Given the description of an element on the screen output the (x, y) to click on. 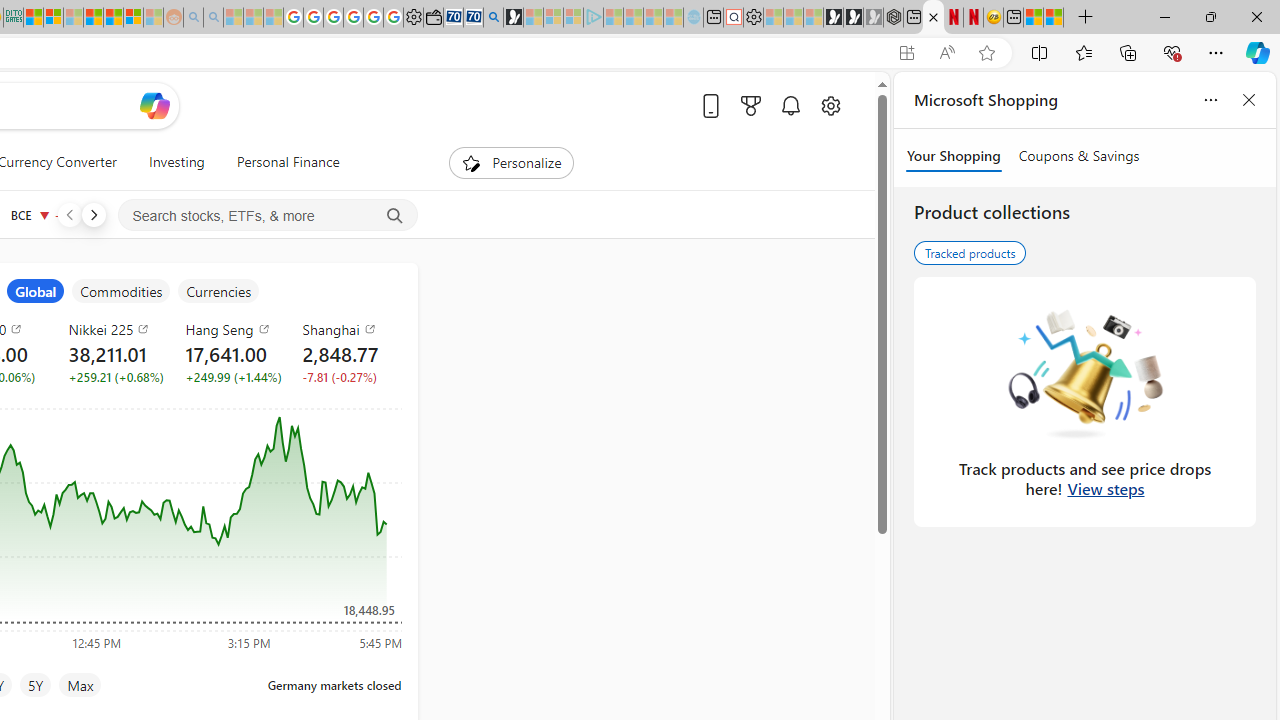
item4 (121, 291)
Next (93, 214)
Personal Finance (287, 162)
Investing (176, 162)
Microsoft account | Privacy (52, 17)
Kinda Frugal - MSN (112, 17)
